Given the description of an element on the screen output the (x, y) to click on. 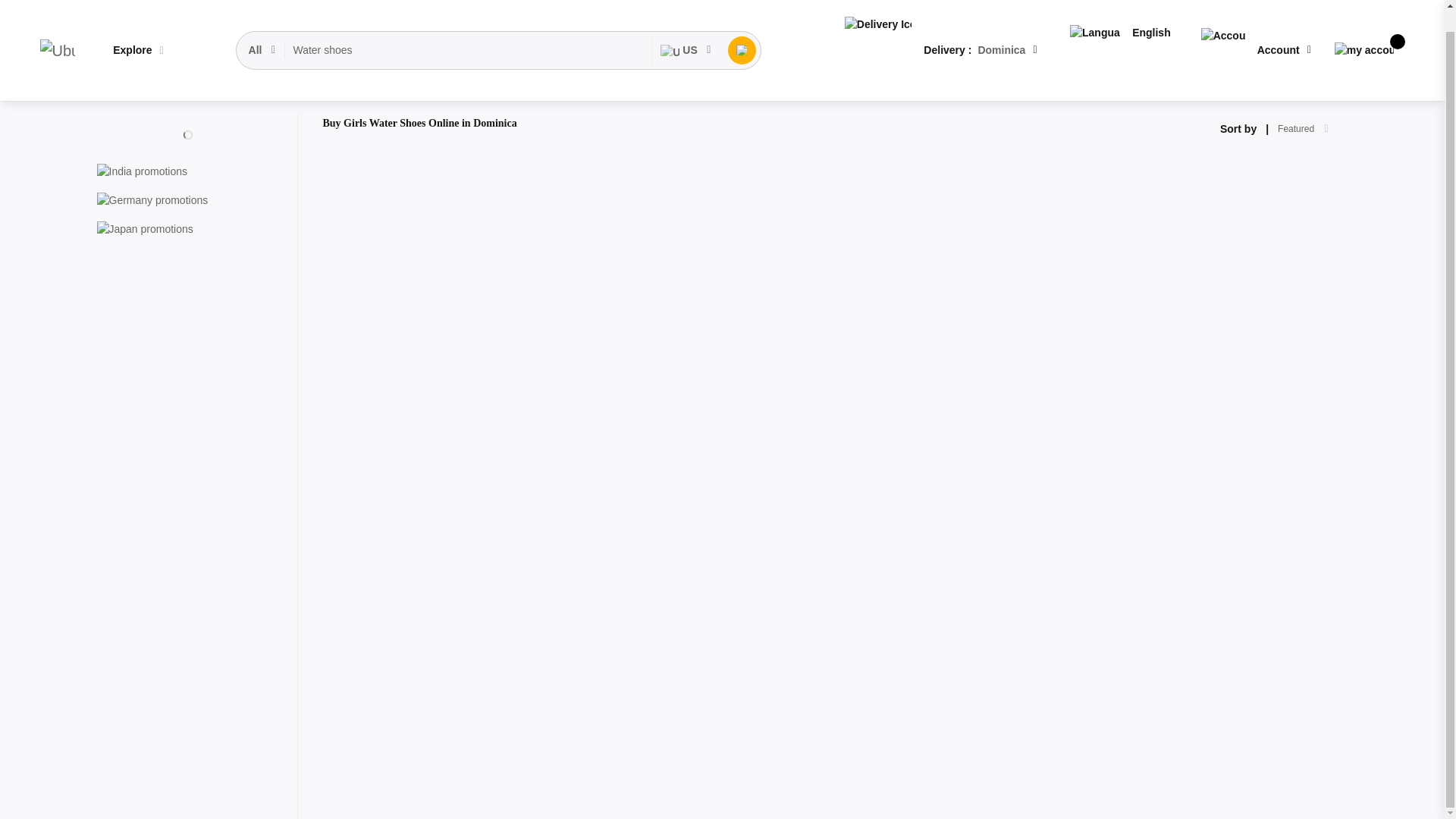
Water shoes (468, 27)
Clothing Shoes Jewelry (215, 89)
Water shoes (468, 27)
US (685, 28)
Home Page (124, 89)
Cart (1364, 27)
Clothing Shoes Jewelry (215, 89)
Home Page (124, 89)
All (263, 28)
Ubuy (57, 28)
